Given the description of an element on the screen output the (x, y) to click on. 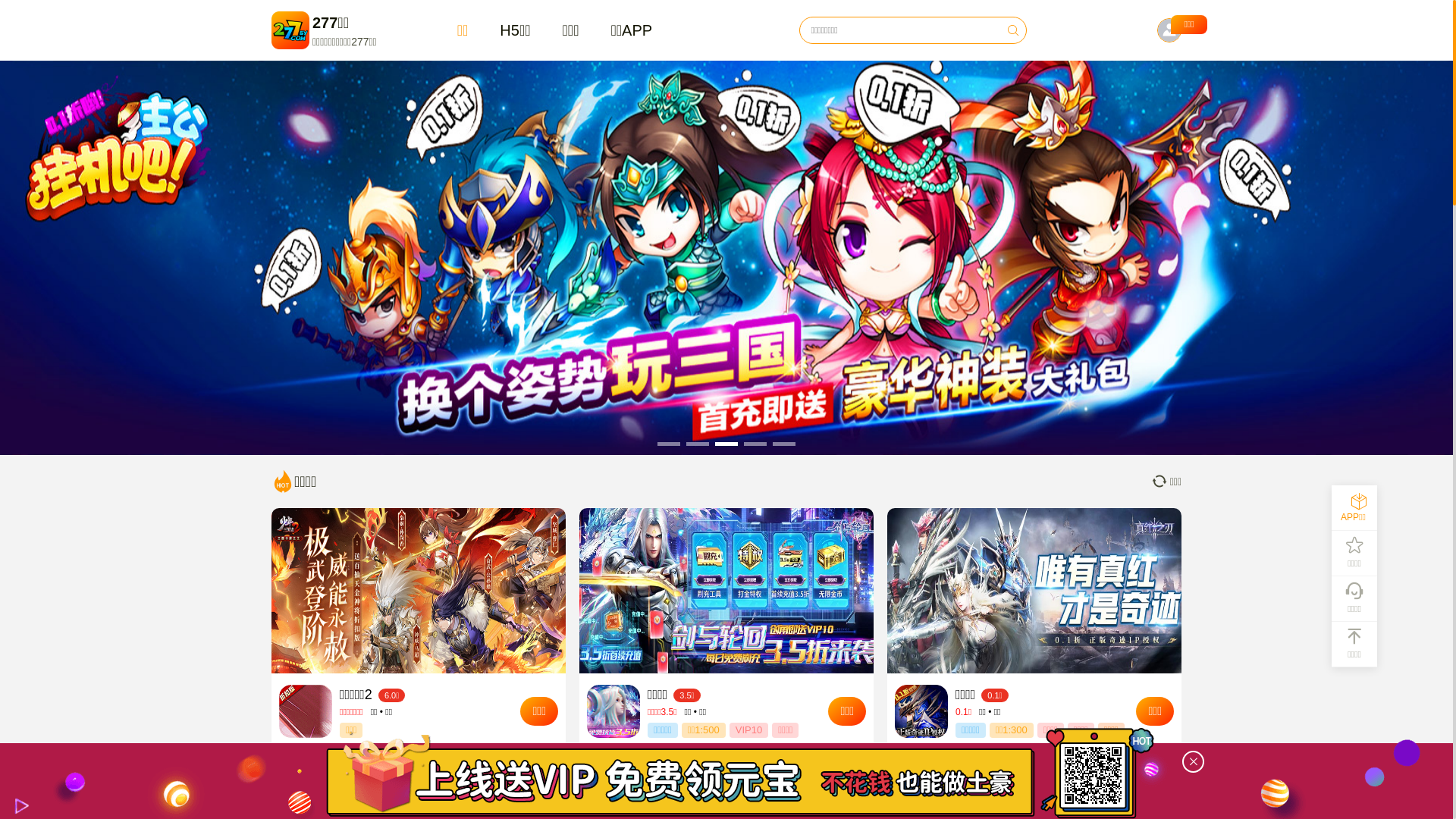
https://www.277sy.com/?appid=1&tgid=dg0012200 Element type: hover (1092, 774)
